Given the description of an element on the screen output the (x, y) to click on. 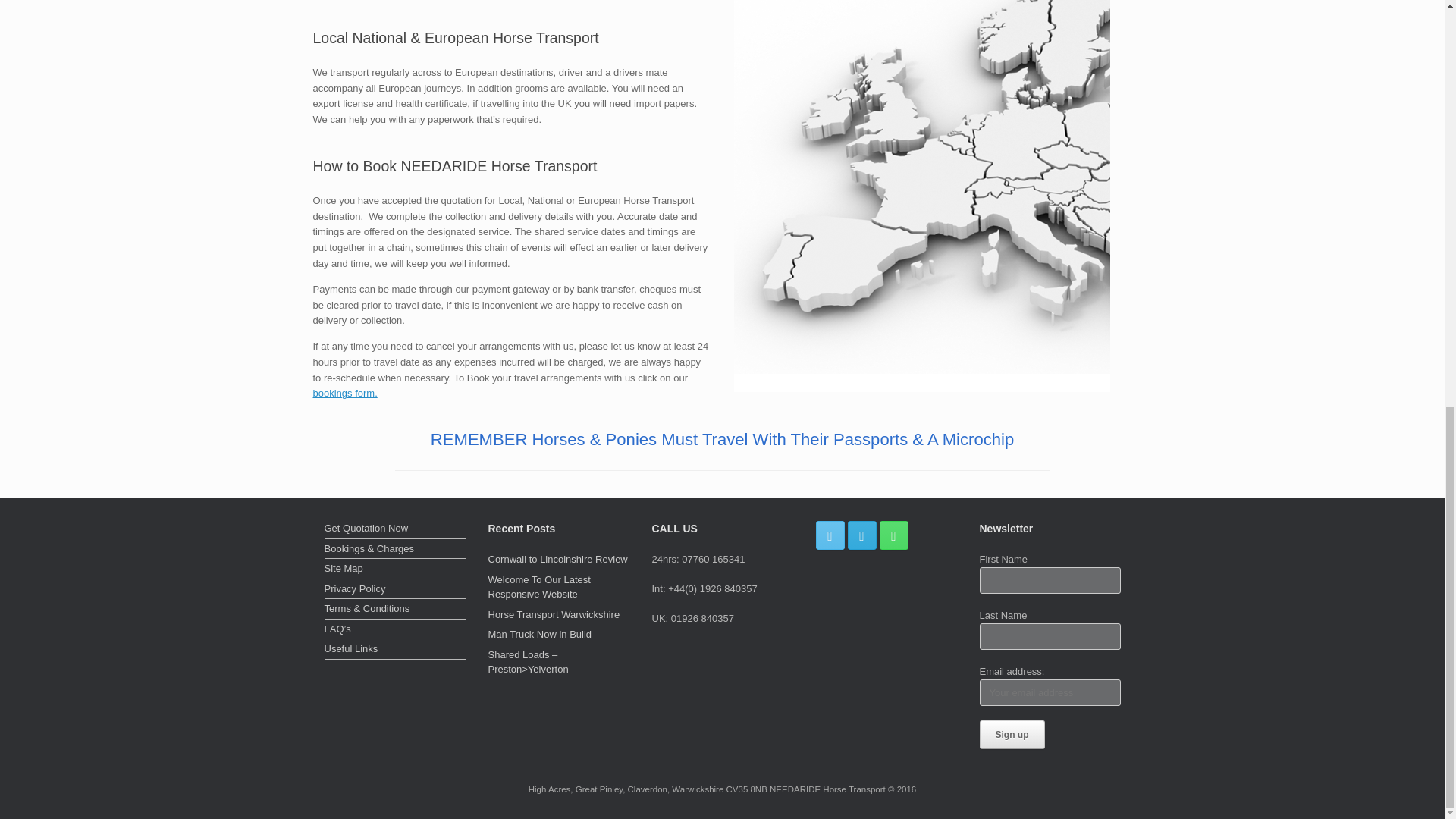
Privacy Policy (394, 590)
NEEDARIDE HORSE TRANSPORT Twitter (829, 534)
Man Truck Now in Build (539, 633)
Welcome To Our Latest Responsive Website (539, 587)
Sign up (1012, 734)
NEEDARIDE HORSE TRANSPORT E-mail (861, 534)
NEEDARIDE HORSE TRANSPORT Phone (893, 534)
Horse Transport Warwickshire (553, 614)
Useful Links (394, 650)
bookings form. (345, 392)
Cornwall to Lincolnshire Review (557, 559)
Site Map (394, 570)
Get Quotation Now (394, 529)
